Given the description of an element on the screen output the (x, y) to click on. 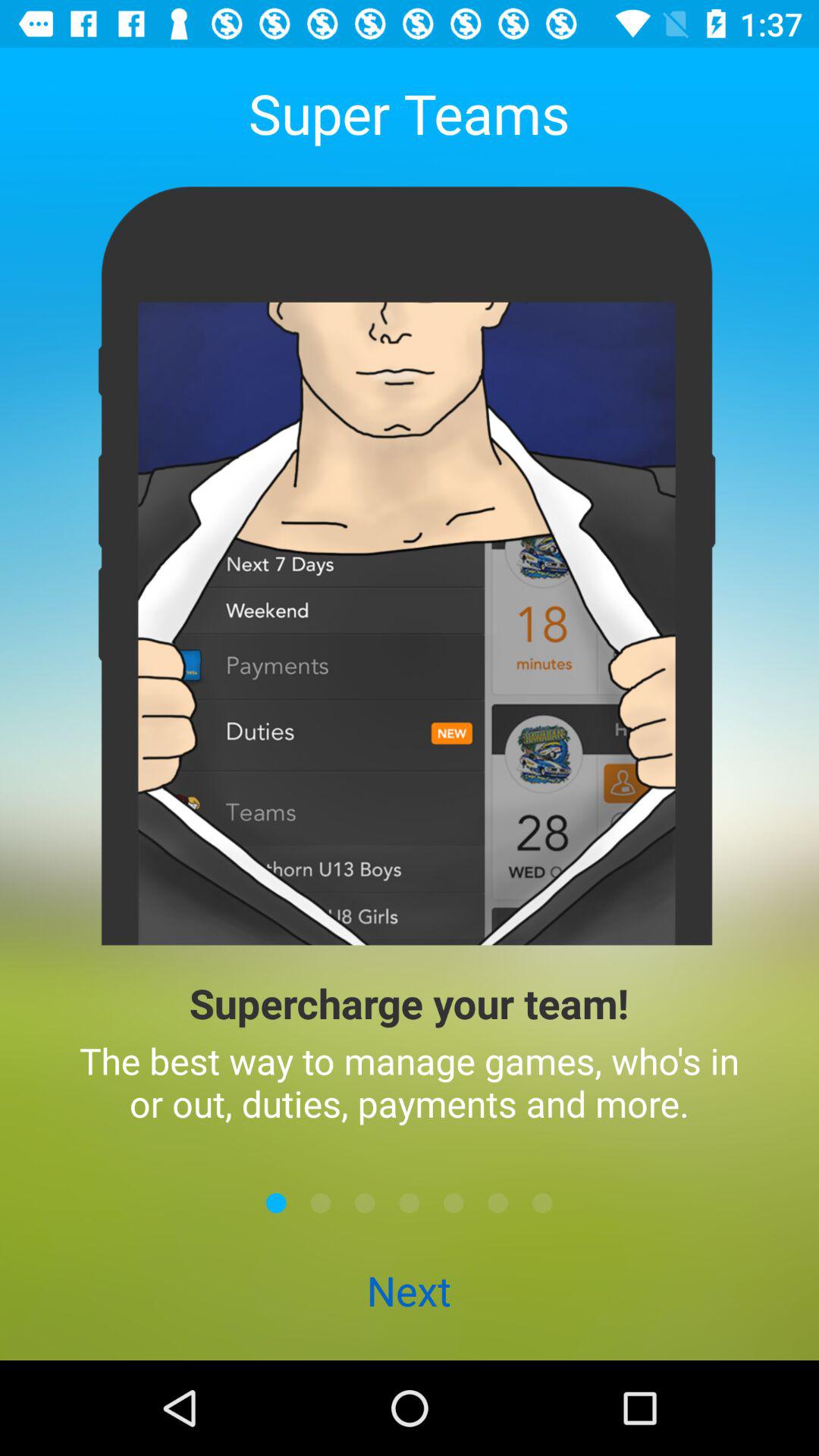
go forward (320, 1203)
